Given the description of an element on the screen output the (x, y) to click on. 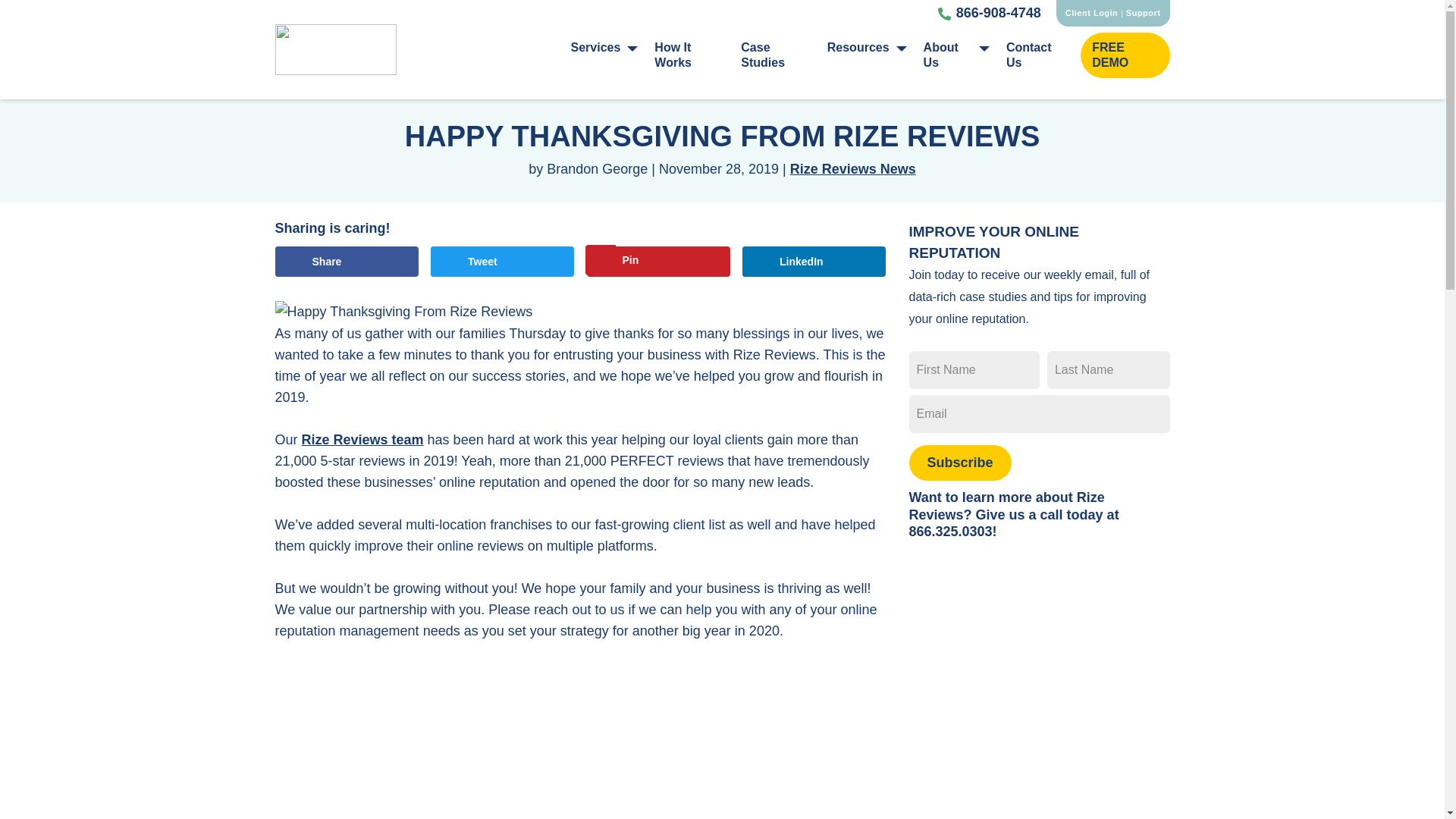
Share on Facebook (346, 261)
About Us (956, 58)
Happy Thanksgiving From Rize Reviews (403, 311)
Save to Pinterest (658, 261)
Contact Us (1035, 58)
Services (604, 50)
FREE DEMO (1124, 54)
Support (1142, 12)
866-908-4748 (989, 13)
Subscribe (959, 462)
